Given the description of an element on the screen output the (x, y) to click on. 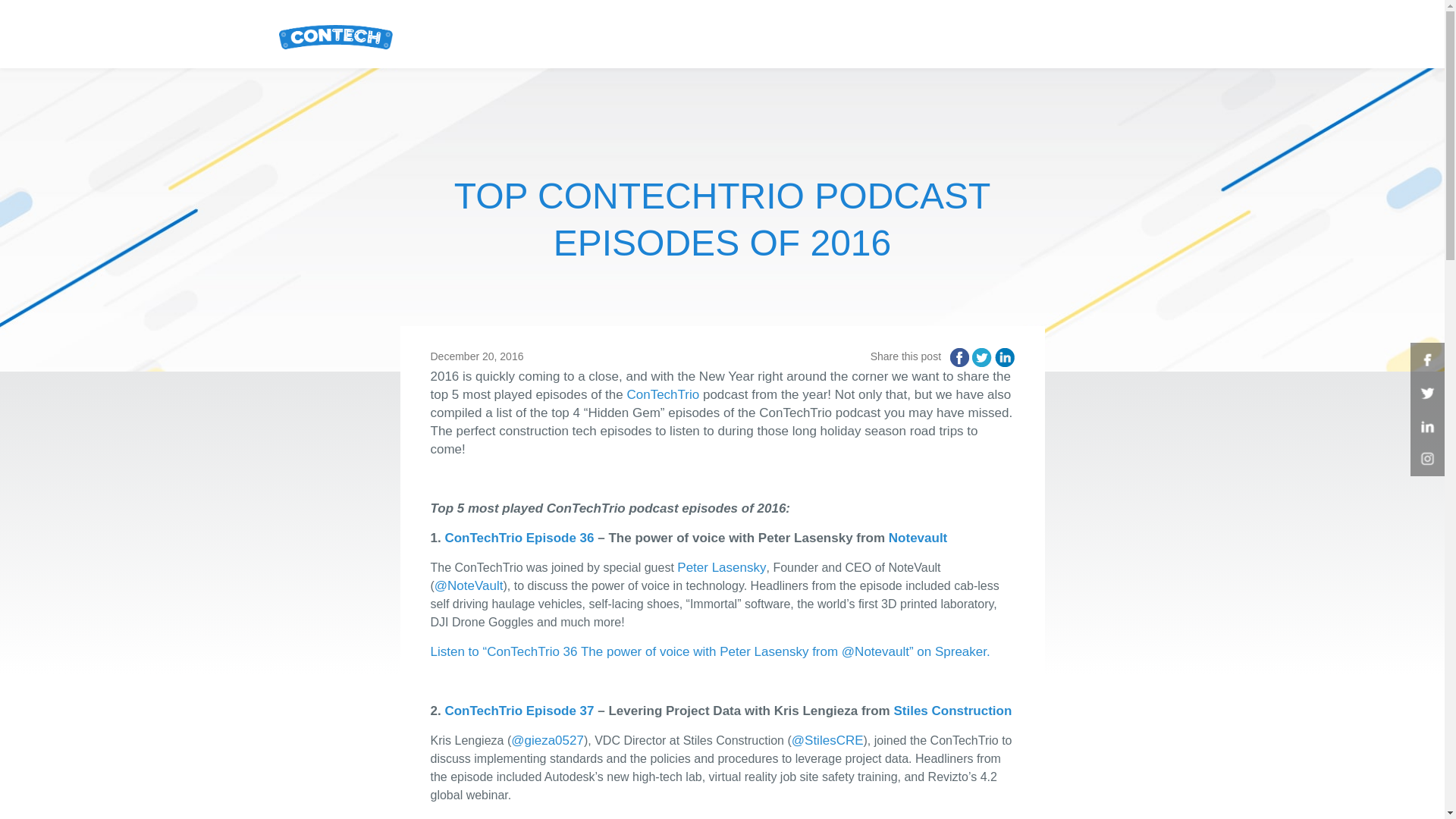
ConTechTrio (662, 394)
The ConTechCrew (336, 34)
Peter Lasensky (721, 567)
Subscribe (1125, 33)
ConTechTrio Episode 36 (519, 537)
ConTechTrio Episode 37 (519, 710)
Stiles Construction (952, 710)
Notevault (917, 537)
Episode Guide (978, 33)
